Given the description of an element on the screen output the (x, y) to click on. 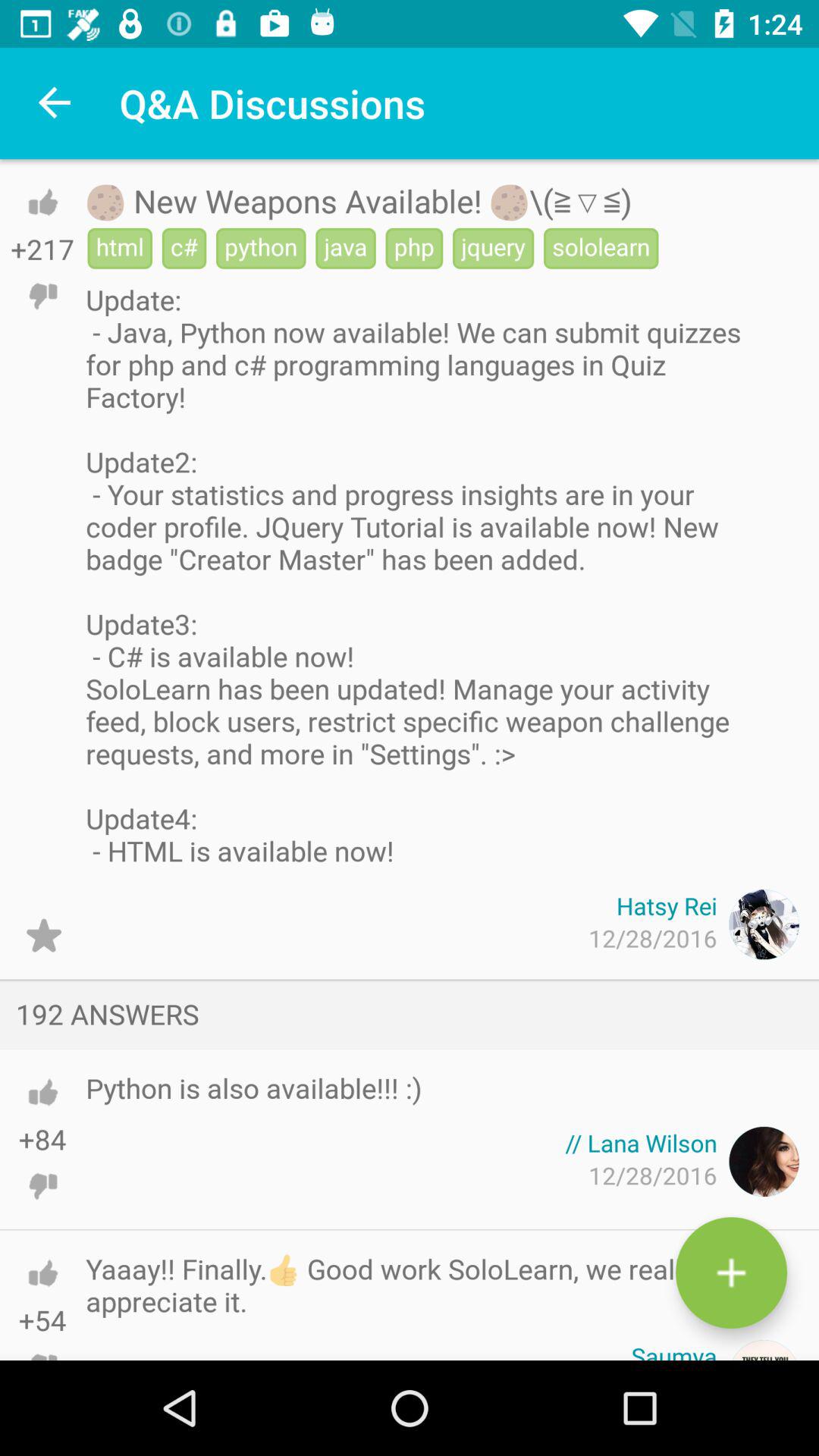
add to favorites (43, 935)
